Given the description of an element on the screen output the (x, y) to click on. 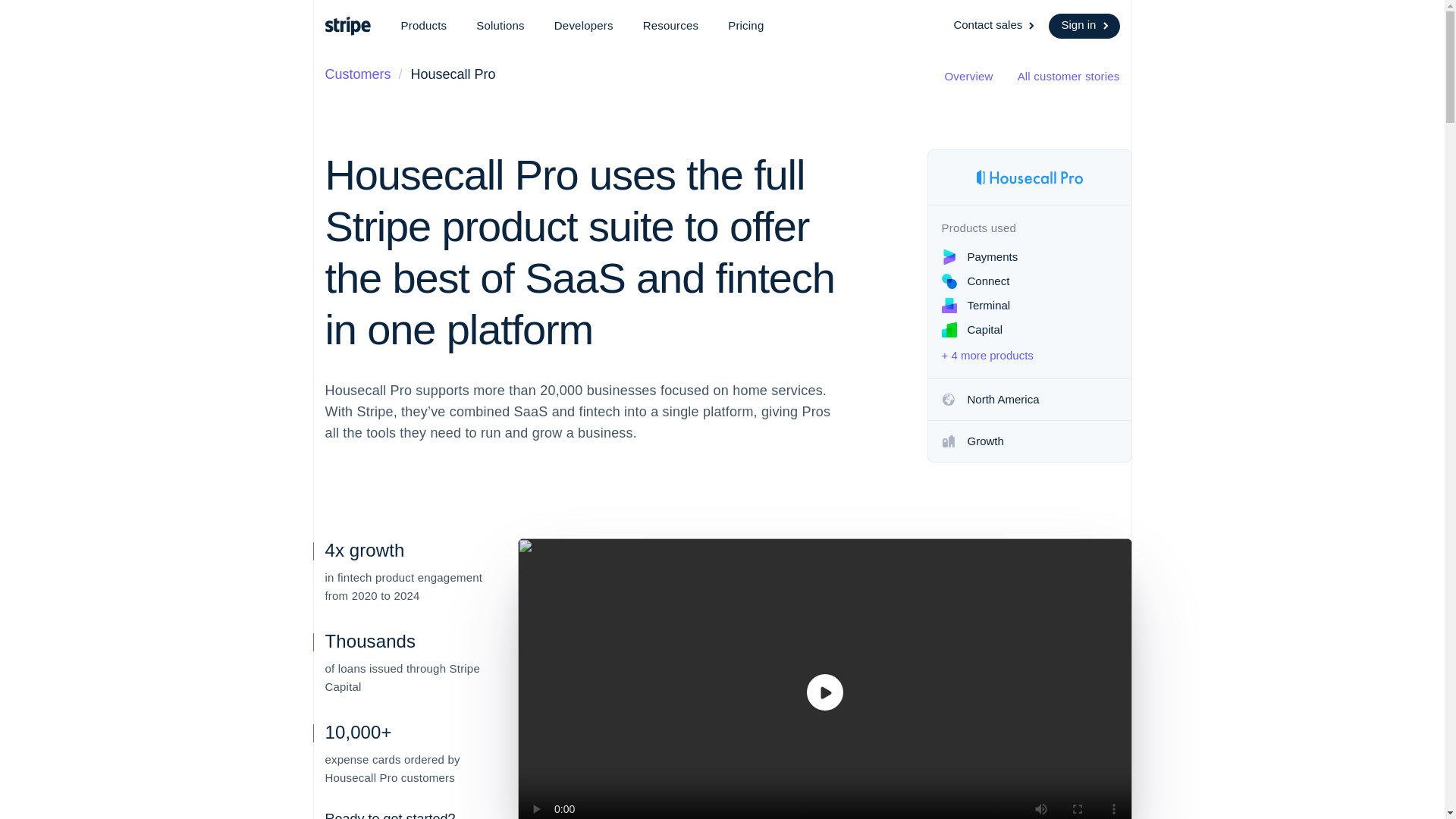
Products (423, 25)
Contact sales  (994, 25)
Developers (583, 25)
Sign in  (1083, 25)
Pricing (745, 25)
Resources (670, 25)
Solutions (500, 25)
